Given the description of an element on the screen output the (x, y) to click on. 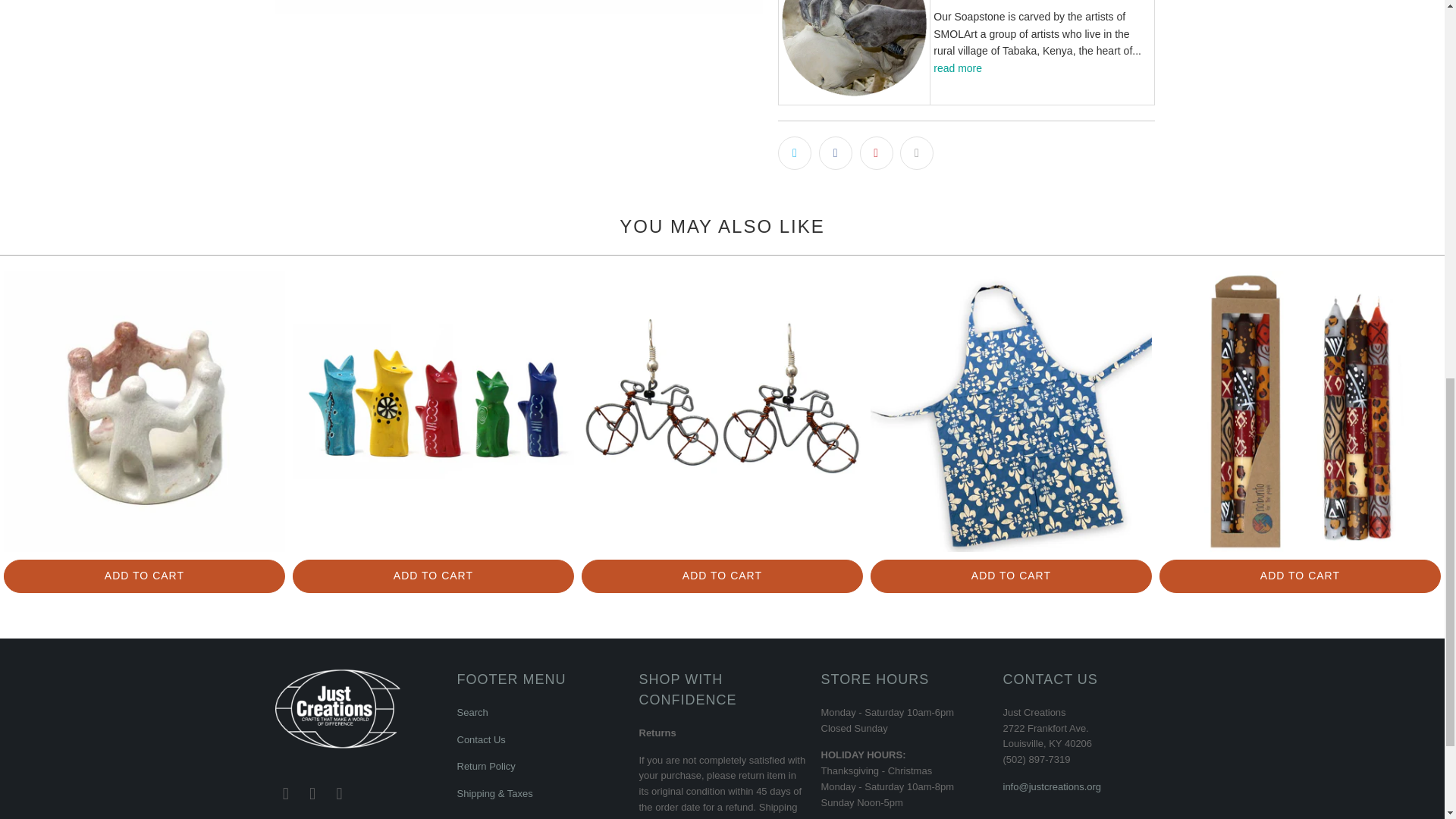
Share this on Facebook (834, 152)
Share this on Twitter (793, 152)
